Given the description of an element on the screen output the (x, y) to click on. 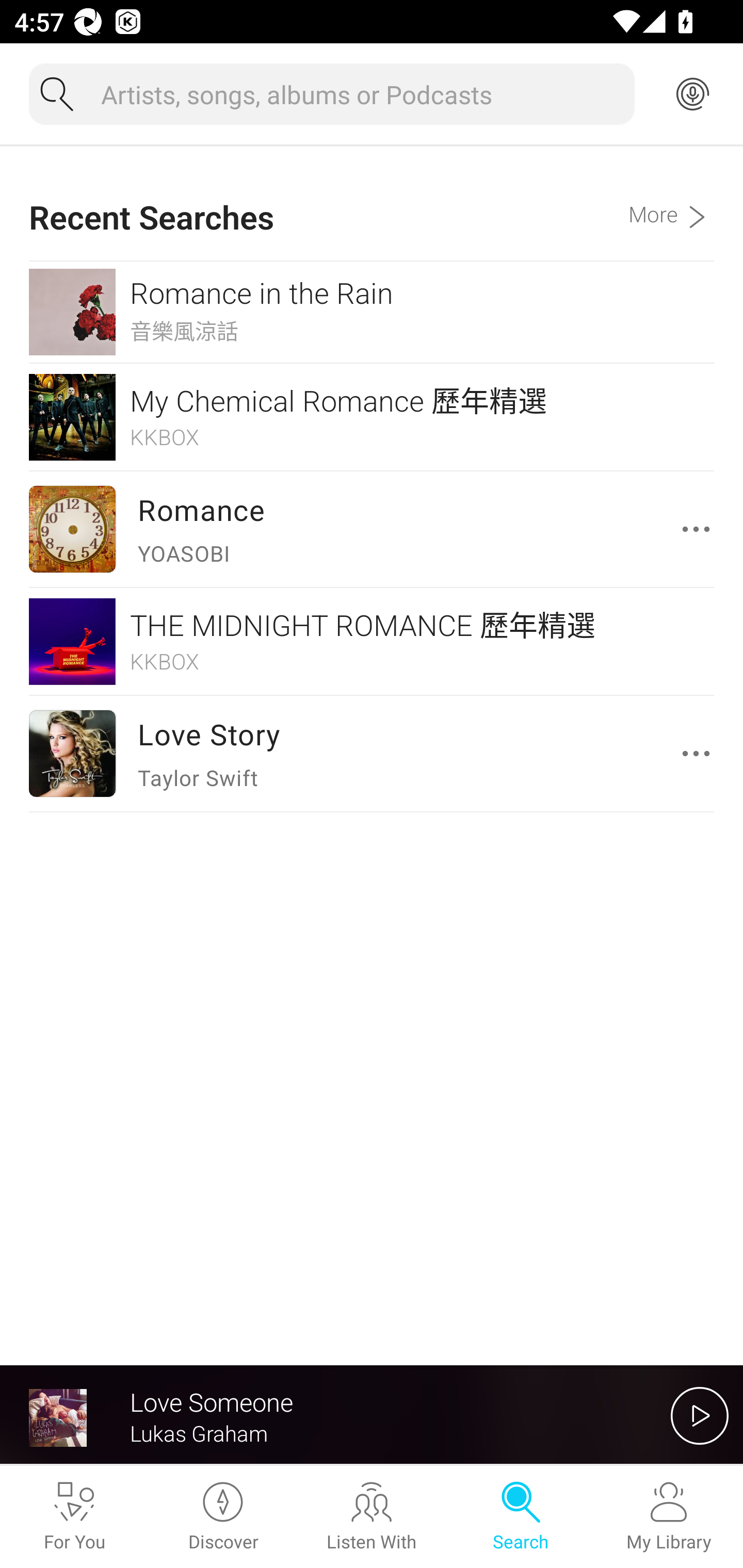
Music recognition (692, 93)
Artists, songs, albums or Podcasts (360, 93)
More Recent Searches More (671, 202)
Romance in the Rain 音樂風涼話 (371, 311)
My Chemical Romance 歷年精選 KKBOX (371, 416)
Romance YOASOBI 更多操作選項 (371, 528)
更多操作選項 (699, 529)
THE MIDNIGHT ROMANCE 歷年精選 KKBOX (371, 641)
Love Story Taylor Swift 更多操作選項 (371, 753)
更多操作選項 (699, 753)
開始播放 (699, 1415)
For You (74, 1517)
Discover (222, 1517)
Listen With (371, 1517)
Search (519, 1517)
My Library (668, 1517)
